Given the description of an element on the screen output the (x, y) to click on. 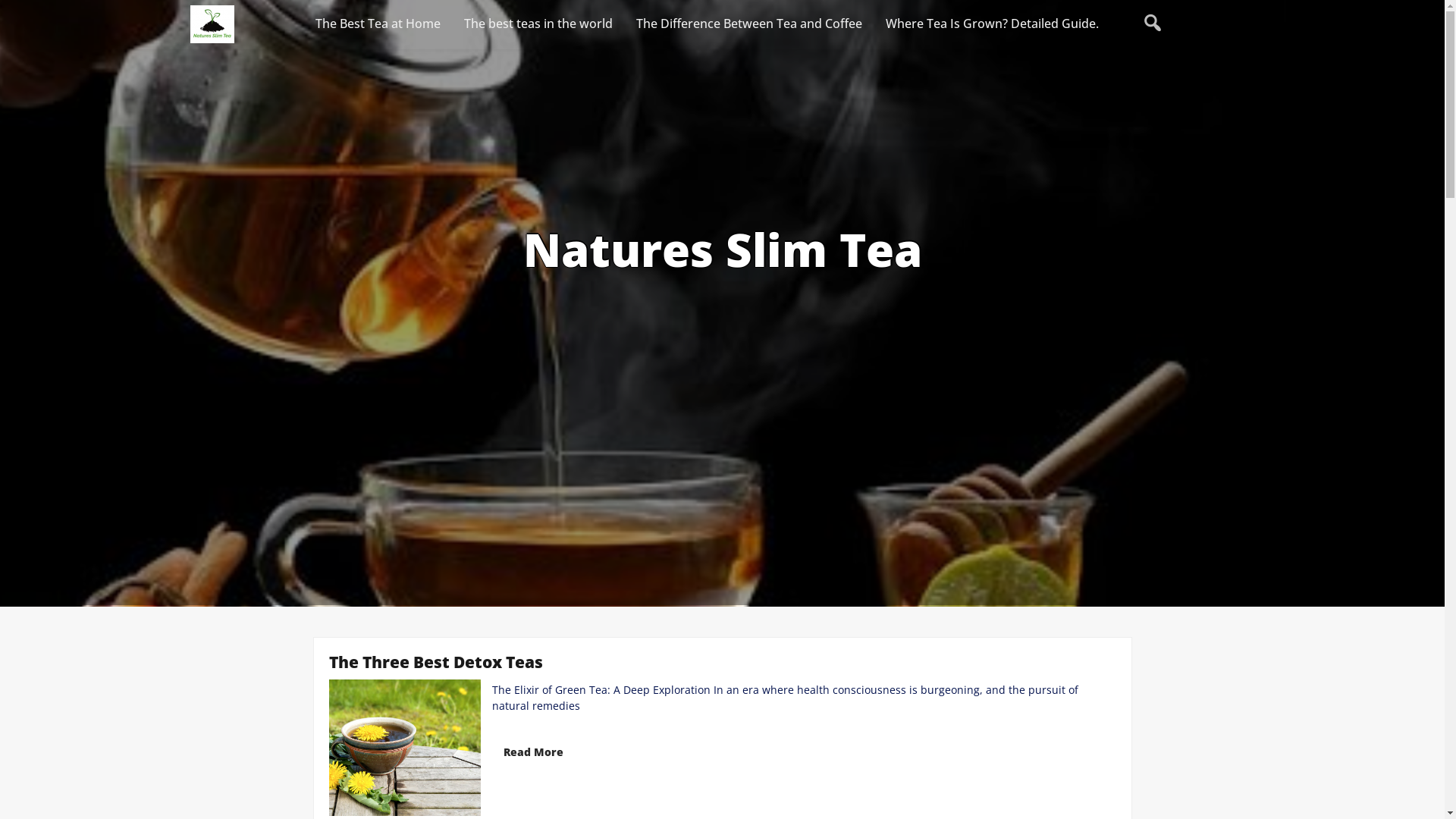
The Three Best Detox Teas Element type: text (435, 661)
Natures Slim Tea Element type: text (722, 249)
Read More Element type: text (532, 751)
The Best Tea at Home Element type: text (377, 24)
The Difference Between Tea and Coffee Element type: text (749, 24)
Where Tea Is Grown? Detailed Guide. Element type: text (991, 24)
The best teas in the world Element type: text (537, 24)
